Given the description of an element on the screen output the (x, y) to click on. 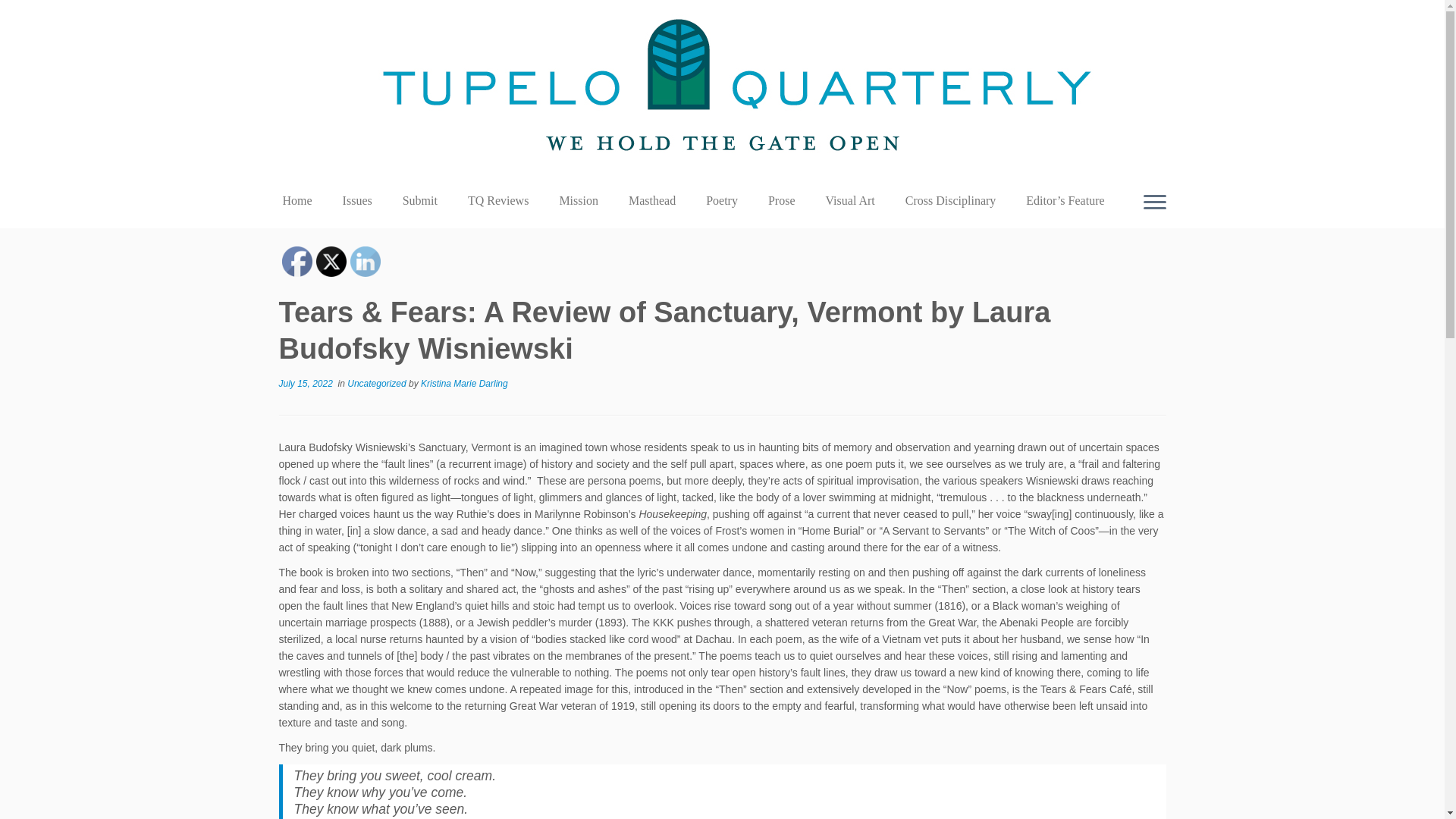
Cross Disciplinary (950, 200)
Facebook (297, 261)
LinkedIn (365, 261)
View all posts in Uncategorized (378, 383)
Mission (577, 200)
TQ Reviews (497, 200)
Prose (781, 200)
Kristina Marie Darling (464, 383)
Twitter (330, 261)
July 15, 2022 (306, 383)
Masthead (651, 200)
Issues (357, 200)
Open the menu (1154, 202)
Visual Art (849, 200)
Home (303, 200)
